Given the description of an element on the screen output the (x, y) to click on. 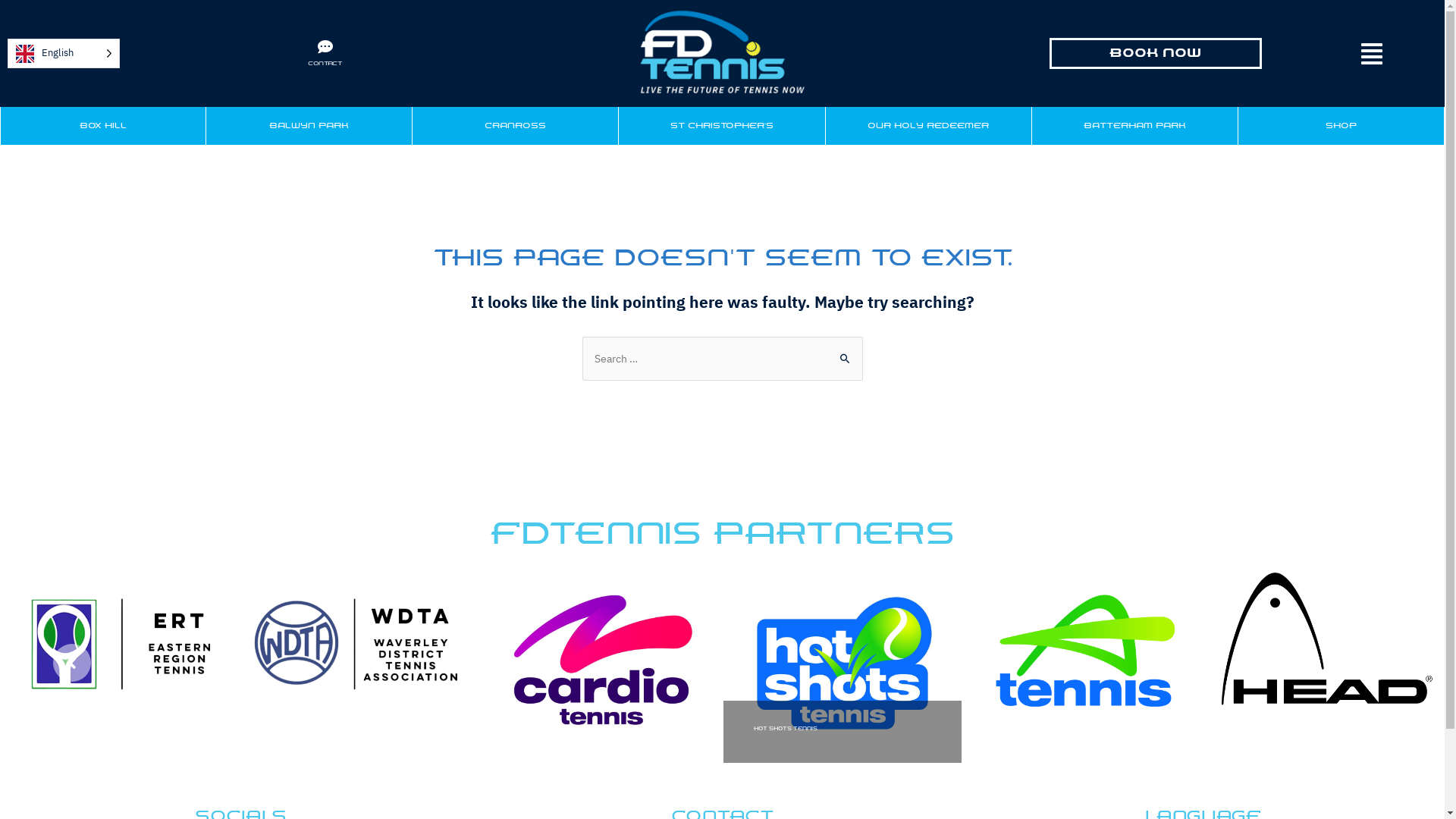
SHOP Element type: text (1340, 125)
CONTACT Element type: text (324, 62)
Search Element type: text (845, 351)
OUR HOLY REDEEMER Element type: text (927, 125)
BATTERHAM PARK Element type: text (1134, 125)
BOOK NOW Element type: text (1155, 52)
CRANROSS Element type: text (515, 125)
BALWYN PARK Element type: text (308, 125)
ST CHRISTOPHER'S Element type: text (721, 125)
BOX HILL Element type: text (102, 125)
